Given the description of an element on the screen output the (x, y) to click on. 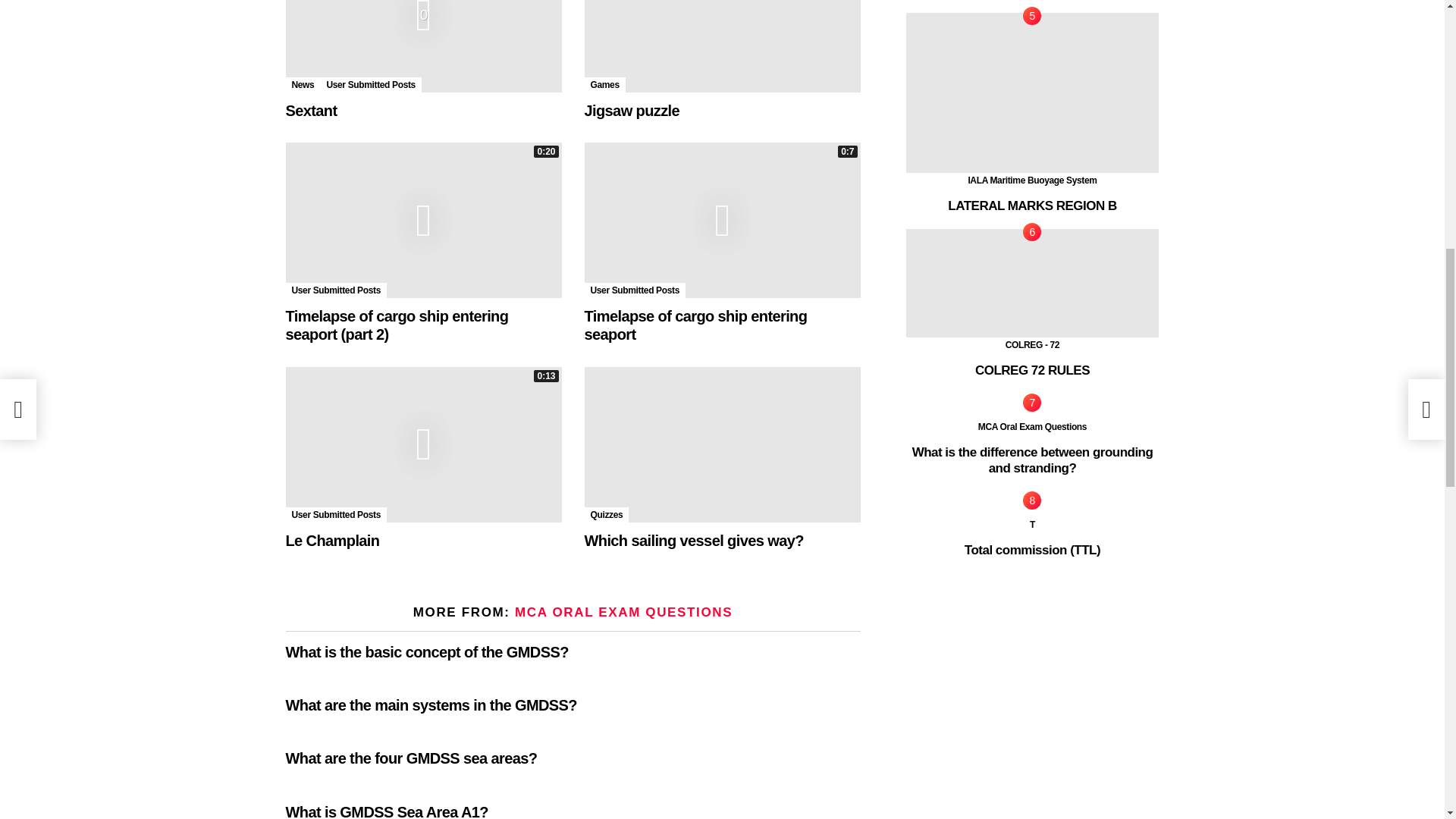
Le Champlain (422, 444)
Sextant (422, 46)
Jigsaw puzzle (721, 46)
Timelapse of cargo ship entering seaport (721, 220)
